Given the description of an element on the screen output the (x, y) to click on. 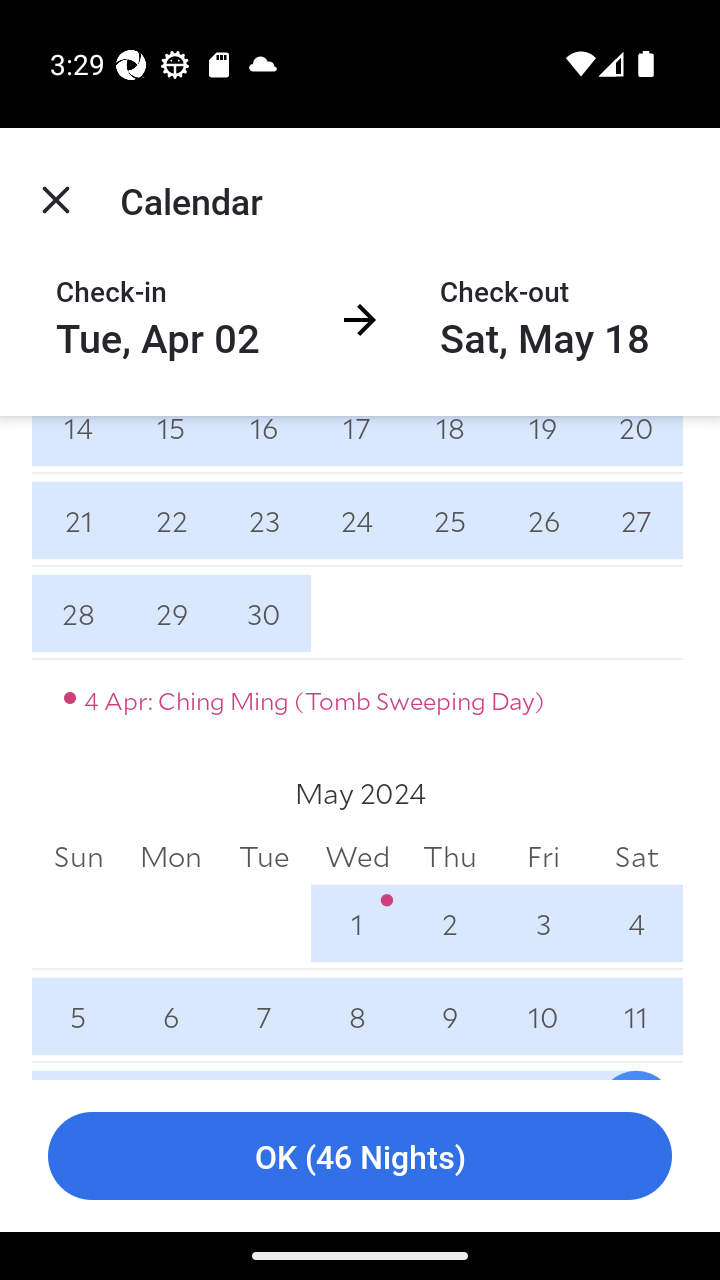
14 14 April 2024 (78, 444)
15 15 April 2024 (171, 444)
16 16 April 2024 (264, 444)
17 17 April 2024 (357, 444)
18 18 April 2024 (449, 444)
19 19 April 2024 (542, 444)
20 20 April 2024 (636, 444)
21 21 April 2024 (78, 520)
22 22 April 2024 (171, 520)
23 23 April 2024 (264, 520)
24 24 April 2024 (357, 520)
25 25 April 2024 (449, 520)
26 26 April 2024 (542, 520)
27 27 April 2024 (636, 520)
28 28 April 2024 (78, 613)
29 29 April 2024 (171, 613)
30 30 April 2024 (264, 613)
Sun (78, 855)
Mon (171, 855)
Tue (264, 855)
Wed (357, 855)
Thu (449, 855)
Fri (542, 855)
Sat (636, 855)
1 1 May 2024 (357, 923)
2 2 May 2024 (449, 923)
3 3 May 2024 (542, 923)
4 4 May 2024 (636, 923)
5 5 May 2024 (78, 1016)
6 6 May 2024 (171, 1016)
7 7 May 2024 (264, 1016)
8 8 May 2024 (357, 1016)
9 9 May 2024 (449, 1016)
10 10 May 2024 (542, 1016)
11 11 May 2024 (636, 1016)
OK (46 Nights) (359, 1156)
